Given the description of an element on the screen output the (x, y) to click on. 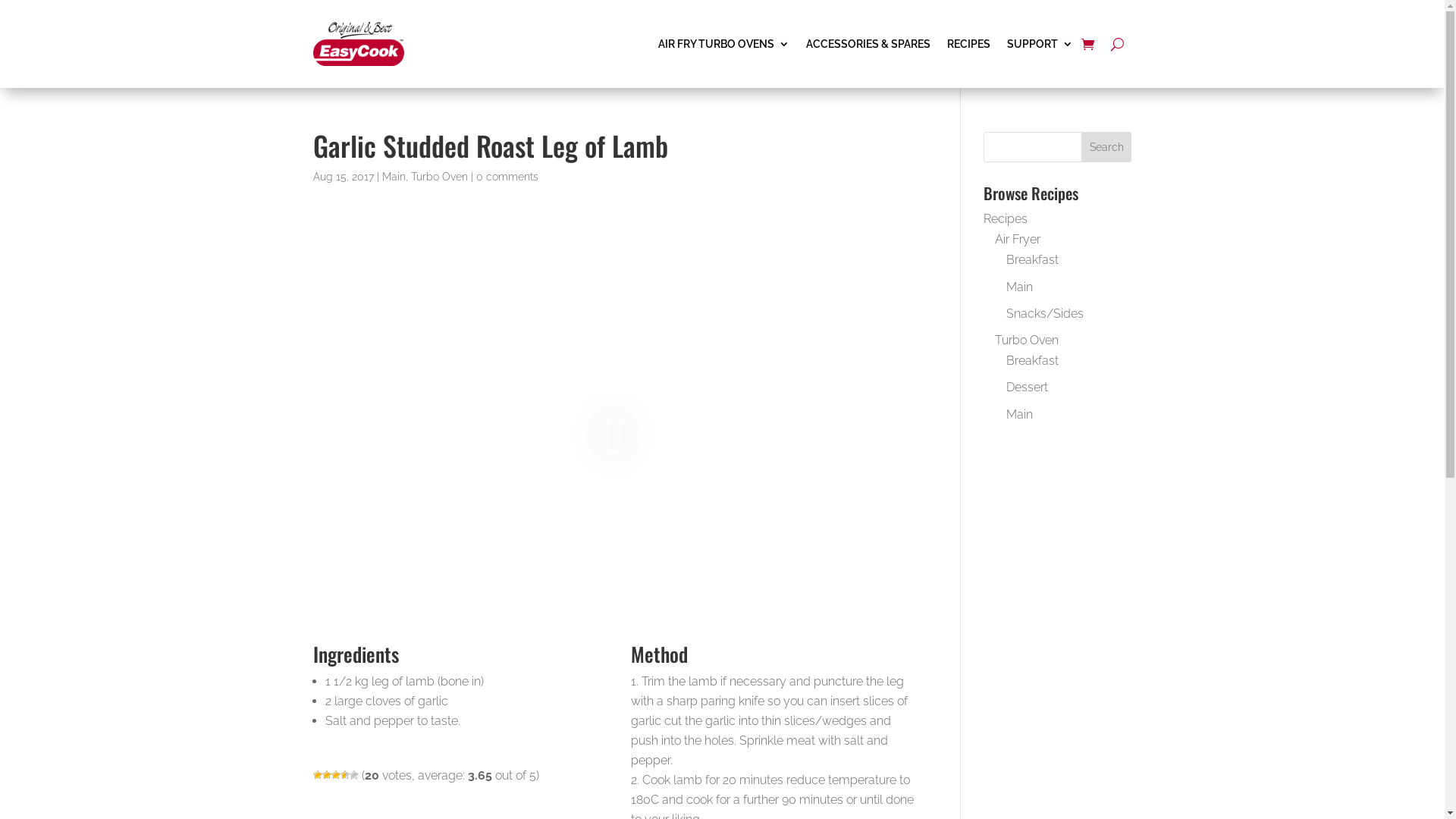
Turbo Oven Element type: text (439, 176)
Play video "Roasted leg of Lamb" Element type: hover (613, 433)
4 Stars Element type: hover (343, 774)
Main Element type: text (1019, 286)
3 Stars Element type: hover (334, 774)
Breakfast Element type: text (1032, 360)
Main Element type: text (393, 176)
0 comments Element type: text (507, 176)
5 Stars Element type: hover (352, 774)
Search Element type: text (1106, 146)
2 Stars Element type: hover (325, 774)
1 Star Element type: hover (316, 774)
Recipes Element type: text (1005, 218)
RECIPES Element type: text (967, 43)
Main Element type: text (1019, 413)
ACCESSORIES & SPARES Element type: text (867, 43)
AIR FRY TURBO OVENS Element type: text (723, 43)
Breakfast Element type: text (1032, 259)
Dessert Element type: text (1027, 386)
Snacks/Sides Element type: text (1044, 313)
SUPPORT Element type: text (1040, 43)
Air Fryer Element type: text (1017, 239)
Turbo Oven Element type: text (1026, 339)
